Given the description of an element on the screen output the (x, y) to click on. 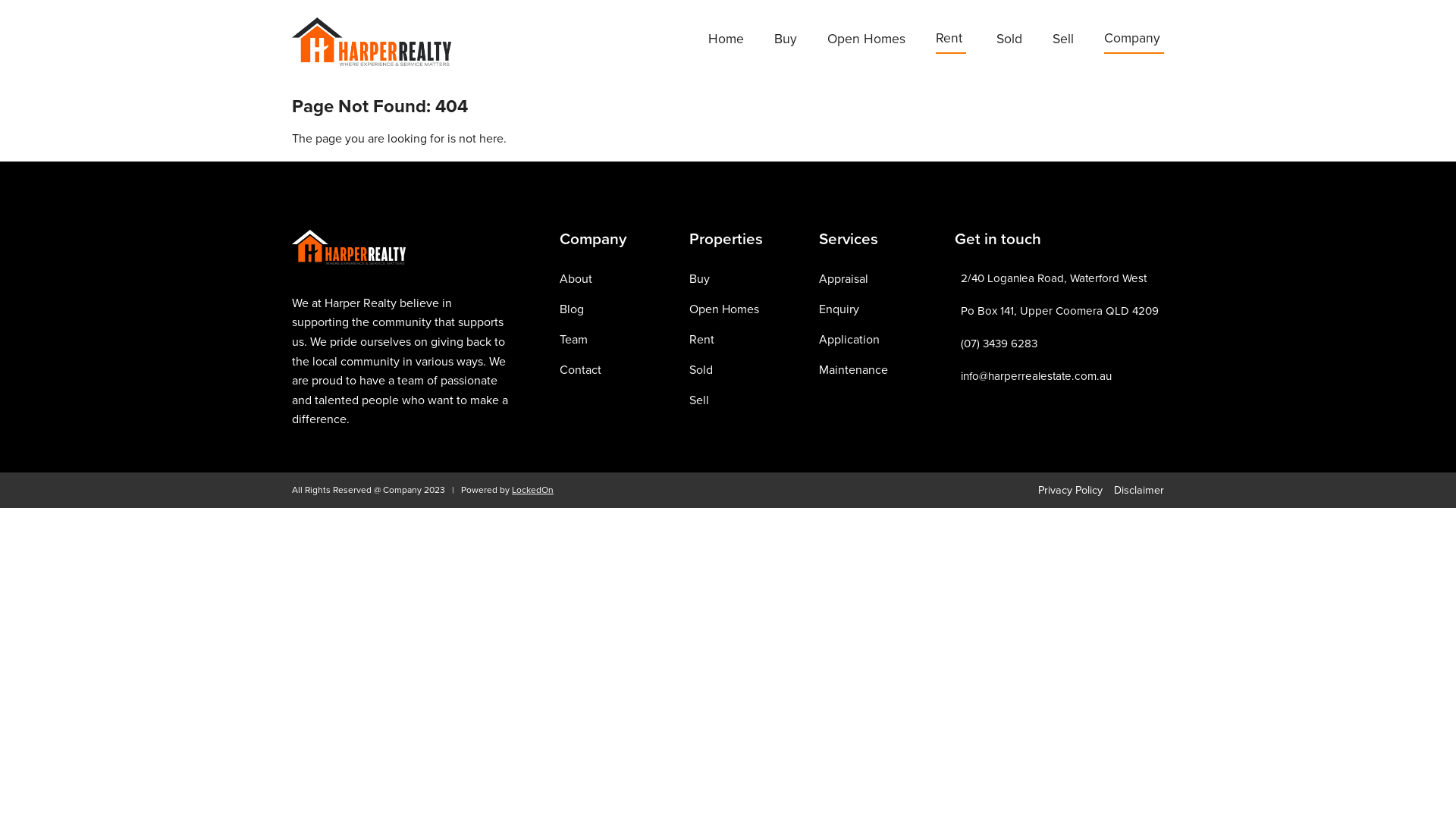
LockedOn Element type: text (532, 489)
Sold Element type: text (1009, 41)
Open Homes Element type: text (866, 41)
Sell Element type: text (699, 399)
info@harperrealestate.com.au Element type: text (1035, 375)
About Element type: text (575, 278)
Privacy Policy Element type: text (1070, 489)
Maintenance Element type: text (853, 369)
Application Element type: text (849, 339)
Open Homes Element type: text (724, 308)
Blog Element type: text (571, 308)
Sell Element type: text (1062, 41)
Enquiry Element type: text (839, 308)
Buy Element type: text (699, 278)
Team Element type: text (573, 339)
Buy Element type: text (785, 41)
Rent Element type: text (701, 339)
Sold Element type: text (700, 369)
Home Element type: text (725, 41)
Contact Element type: text (580, 369)
(07) 3439 6283 Element type: text (998, 343)
Appraisal Element type: text (843, 278)
Disclaimer Element type: text (1138, 489)
